Given the description of an element on the screen output the (x, y) to click on. 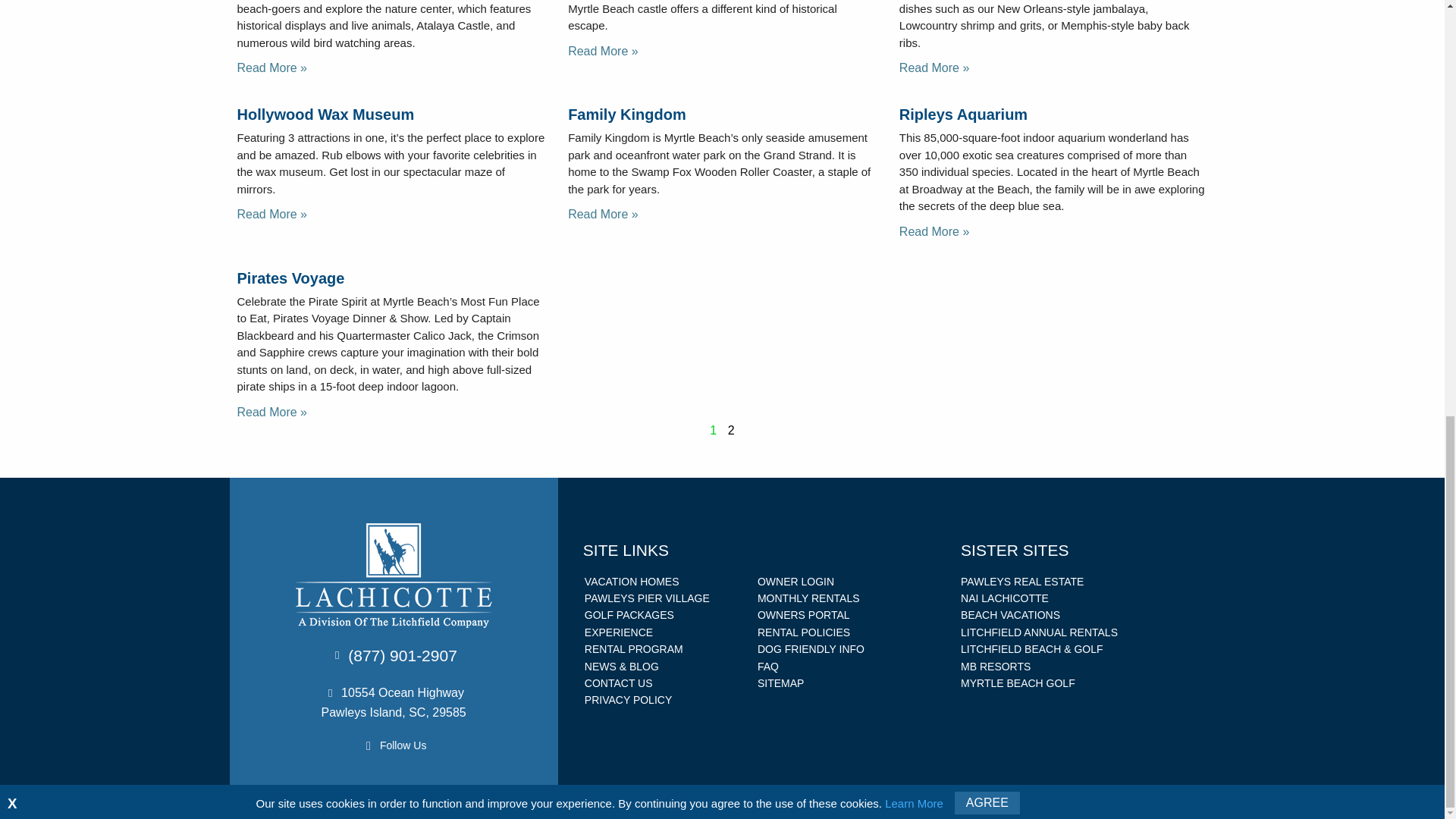
Ripleys Aquarium (963, 114)
Hollywood Wax Museum (324, 114)
Family Kingdom (626, 114)
Pirates Voyage (289, 278)
